Given the description of an element on the screen output the (x, y) to click on. 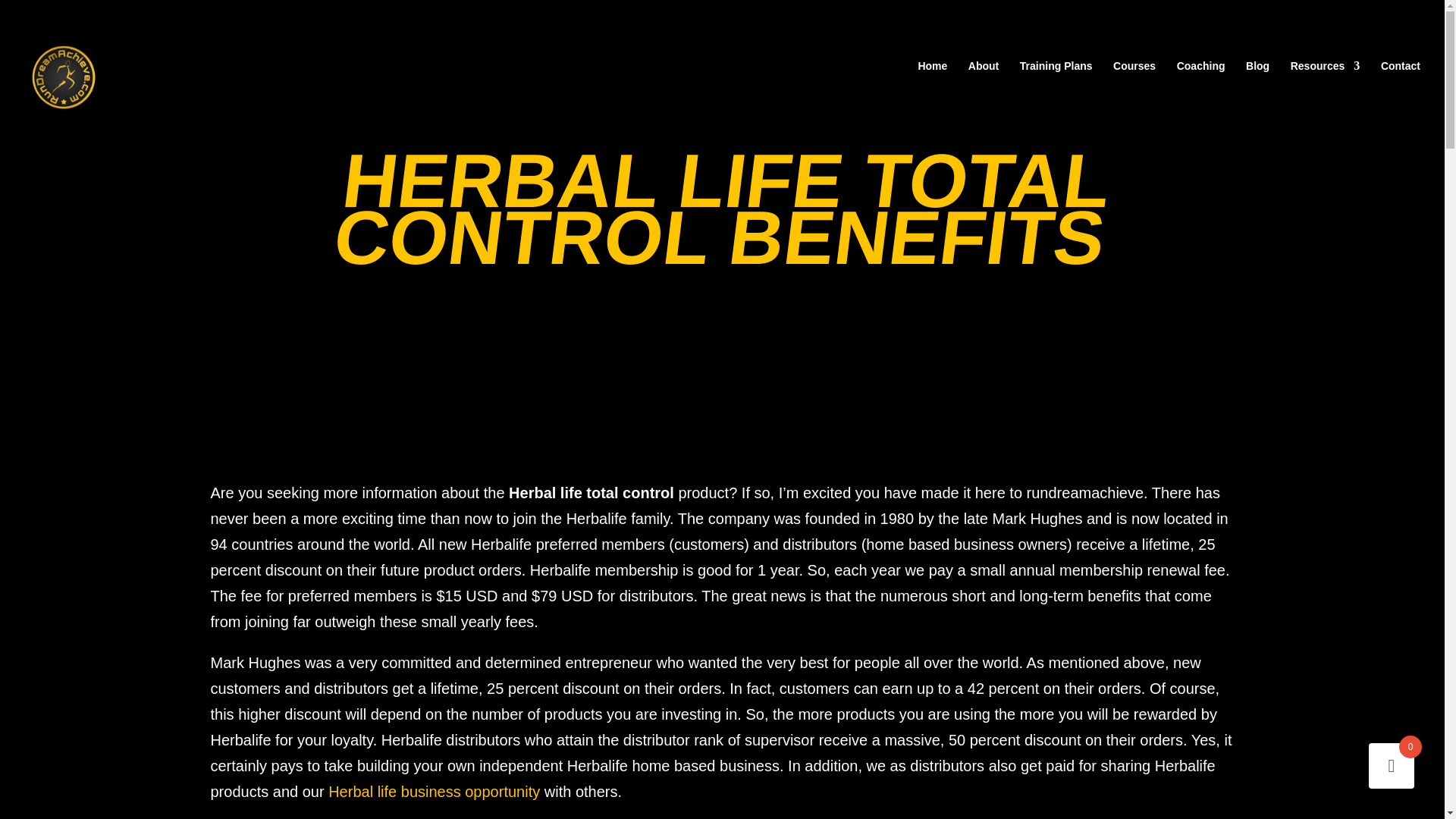
Training Plans (1056, 84)
Resources (1324, 84)
Coaching (1200, 84)
Herbal life business opportunity (434, 791)
